Given the description of an element on the screen output the (x, y) to click on. 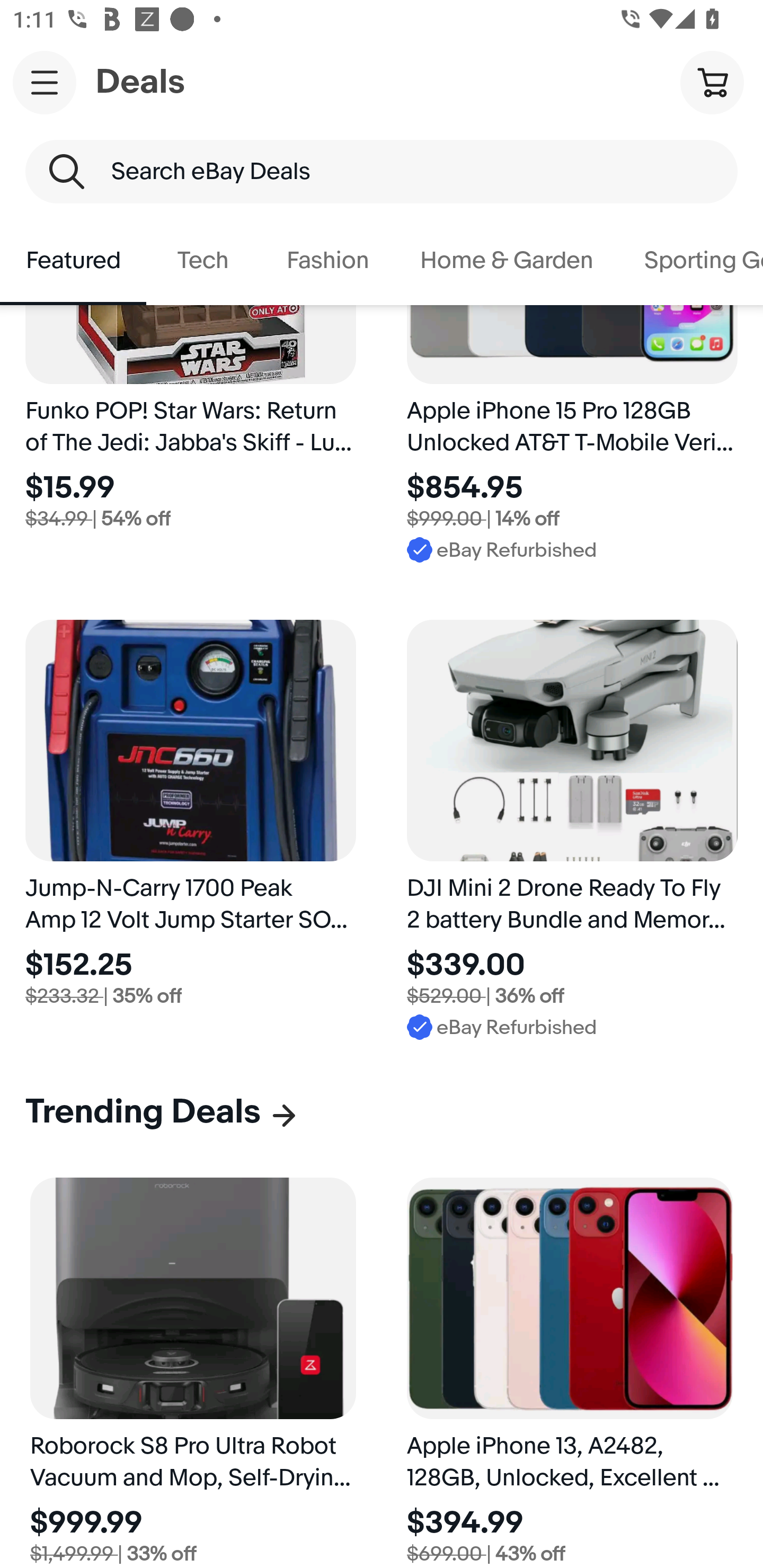
Main navigation, open (44, 82)
Cart button shopping cart (711, 81)
Search eBay Deals Search Keyword Search eBay Deals (381, 171)
Tech. Button. 2 of 7. Tech (203, 260)
Fashion. Button. 3 of 7. Fashion (327, 260)
Home & Garden. Button. 4 of 7. Home & Garden (506, 260)
Trending Deals   Trending Deals,2 items (162, 1112)
